Given the description of an element on the screen output the (x, y) to click on. 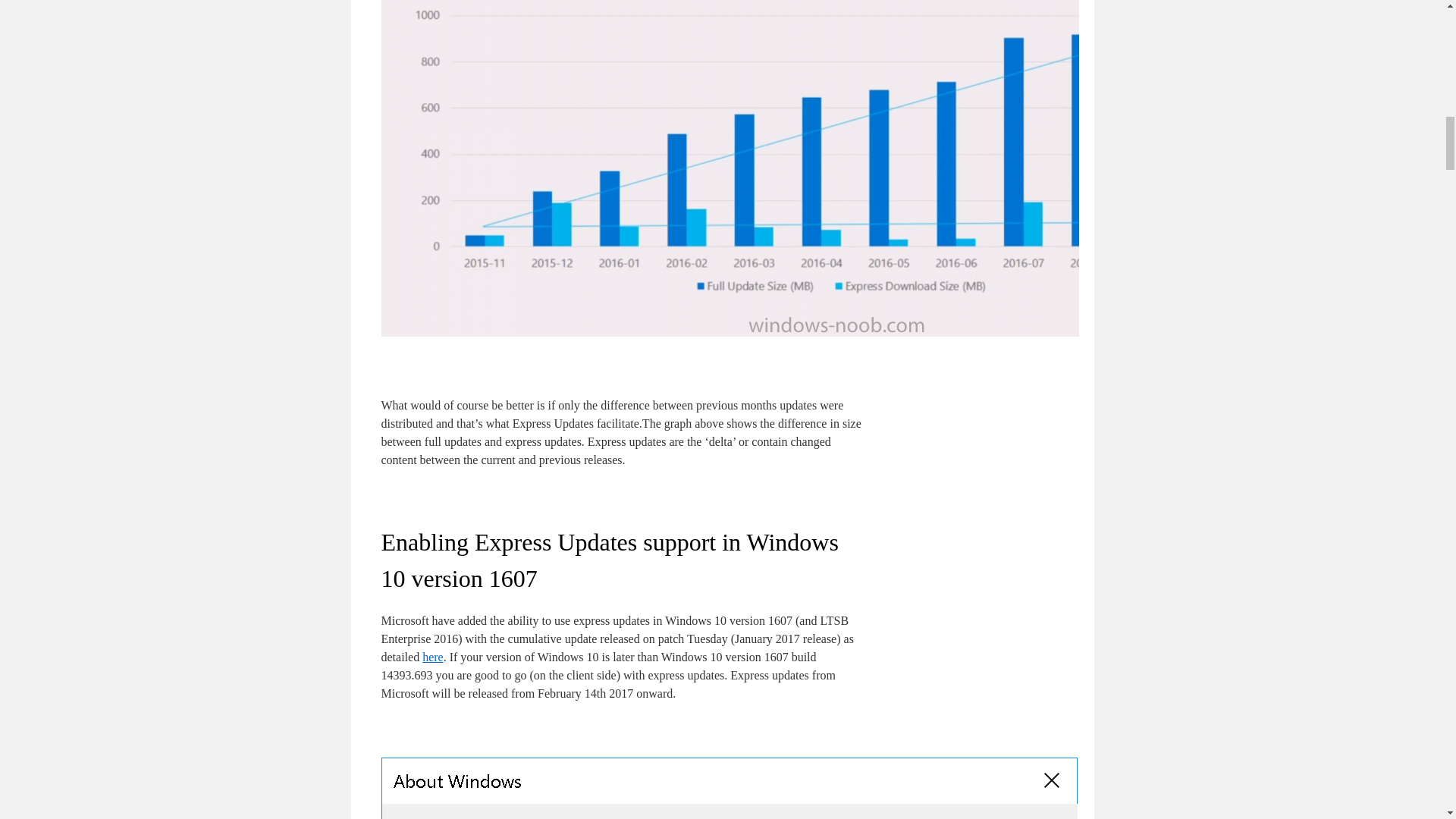
here (433, 656)
express updates versus full updates.png - Size: 352.4KB (835, 332)
